Given the description of an element on the screen output the (x, y) to click on. 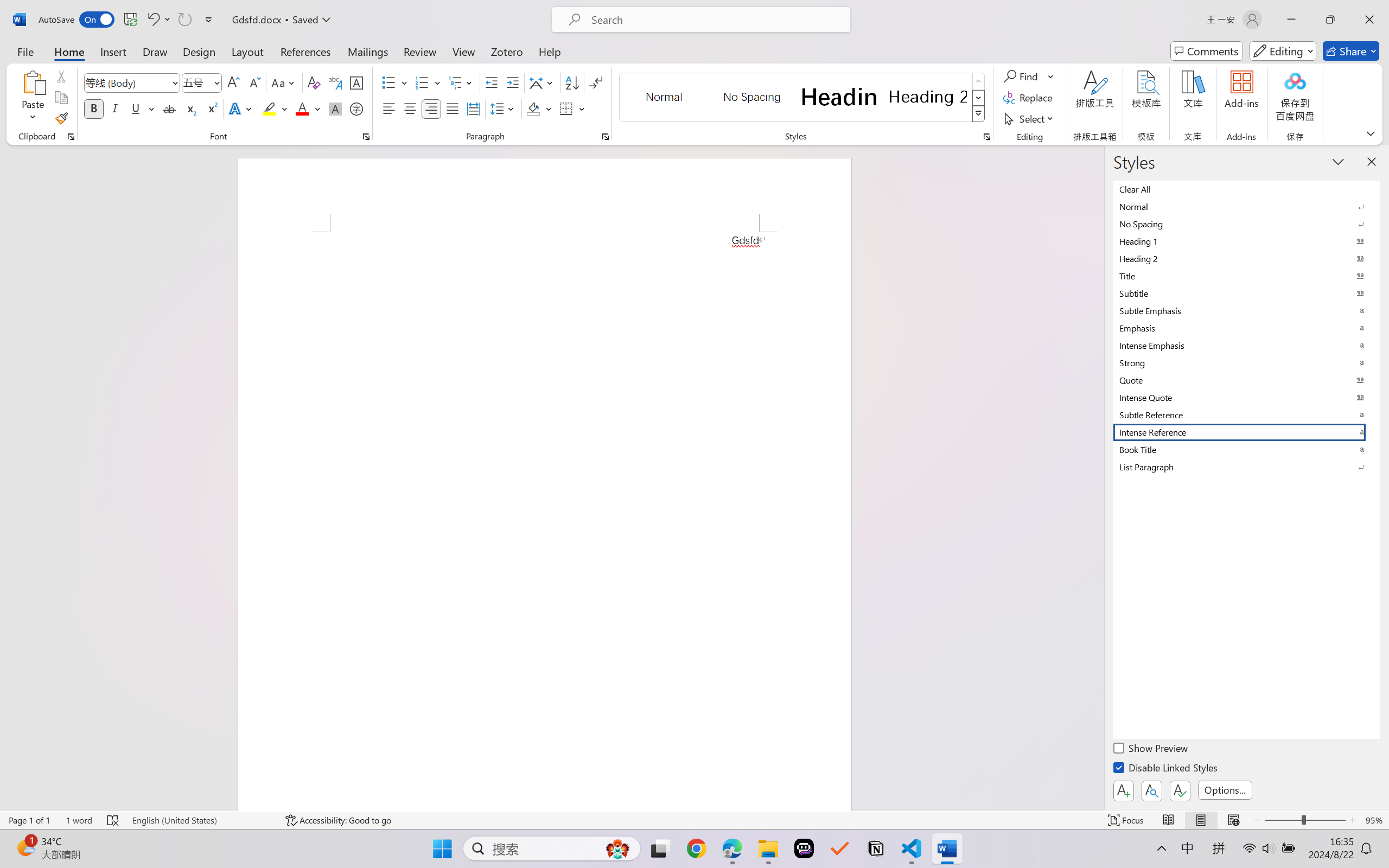
Distributed (473, 108)
Sort... (571, 82)
Shrink Font (253, 82)
Heading 2 (927, 96)
Class: NetUIScrollBar (1097, 477)
Class: NetUIButton (1179, 790)
Bold (94, 108)
